Given the description of an element on the screen output the (x, y) to click on. 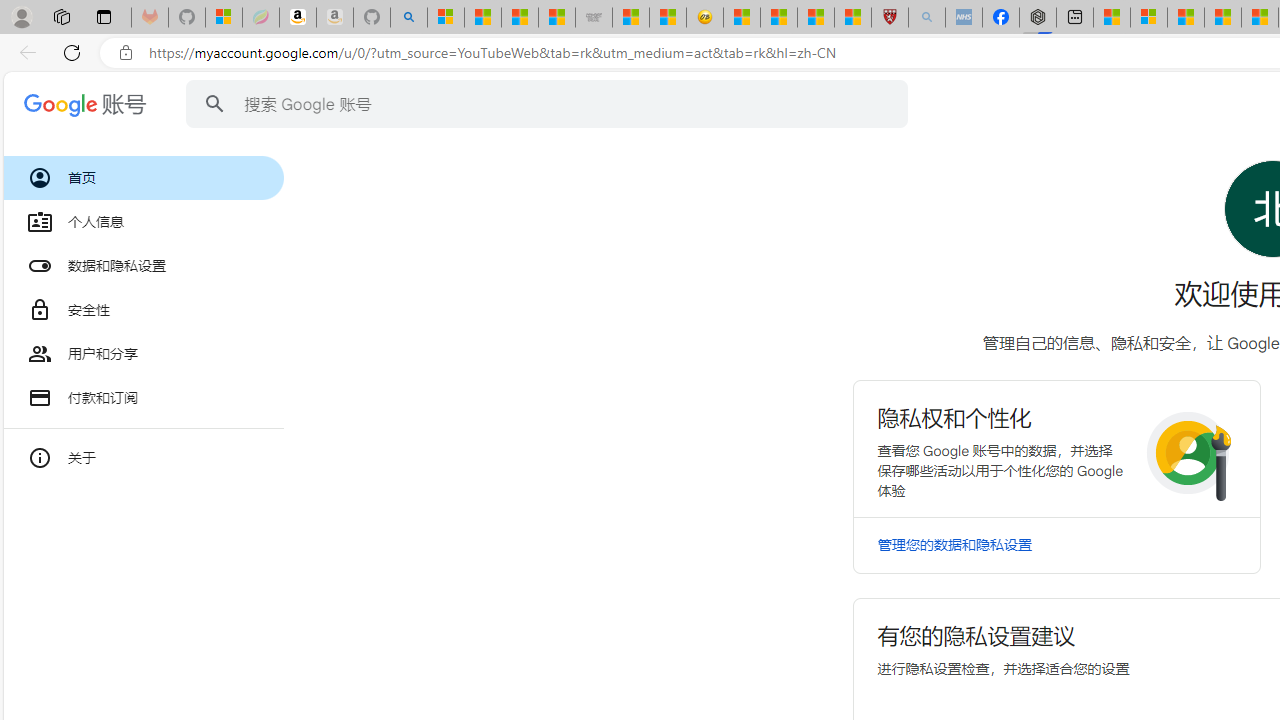
14 Common Myths Debunked By Scientific Facts (1222, 17)
12 Popular Science Lies that Must be Corrected (852, 17)
